Given the description of an element on the screen output the (x, y) to click on. 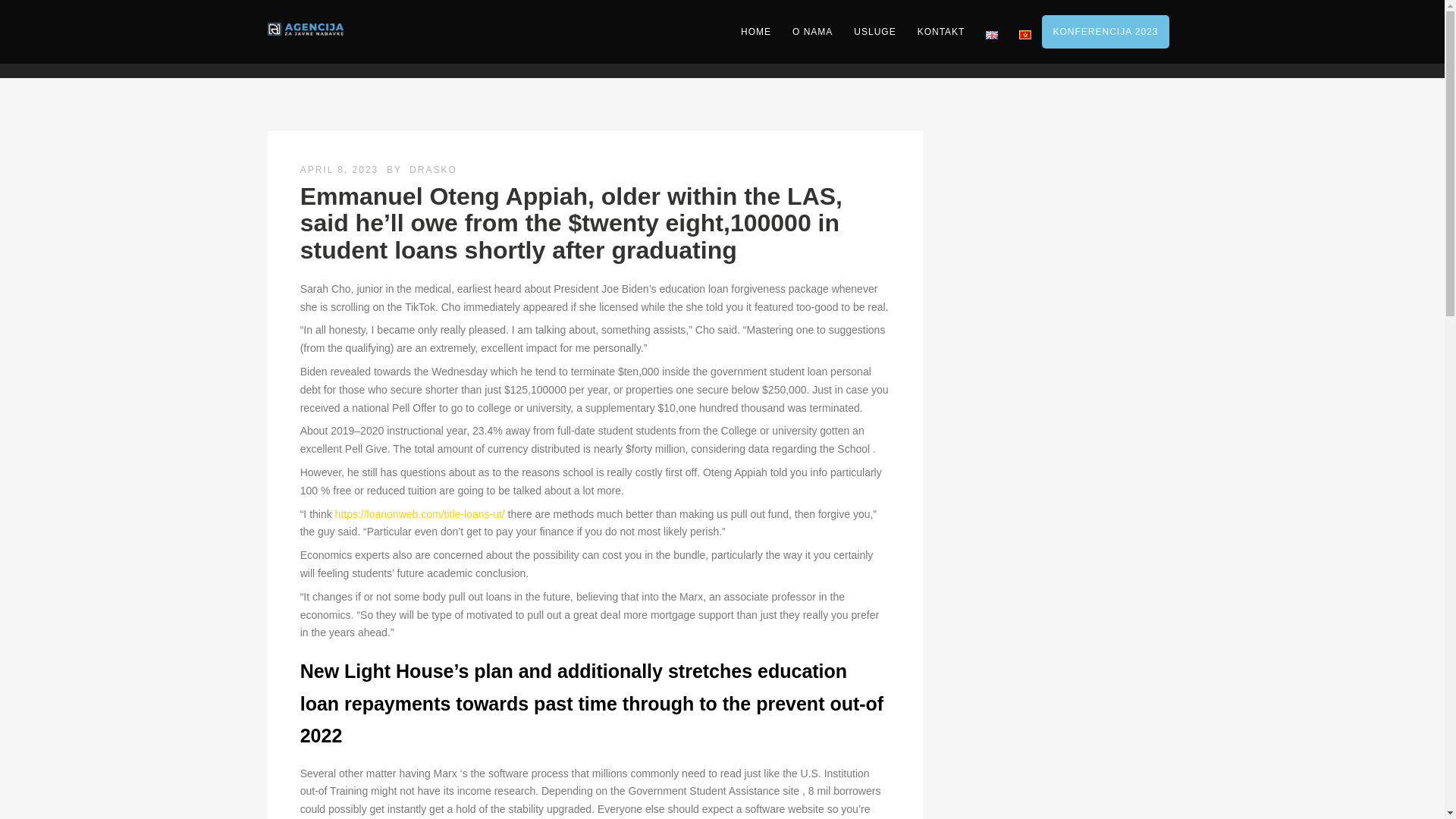
KONTAKT (941, 31)
DRASKO (433, 169)
HOME (755, 31)
KONFERENCIJA 2023 (1105, 31)
USLUGE (874, 31)
O NAMA (812, 31)
